Given the description of an element on the screen output the (x, y) to click on. 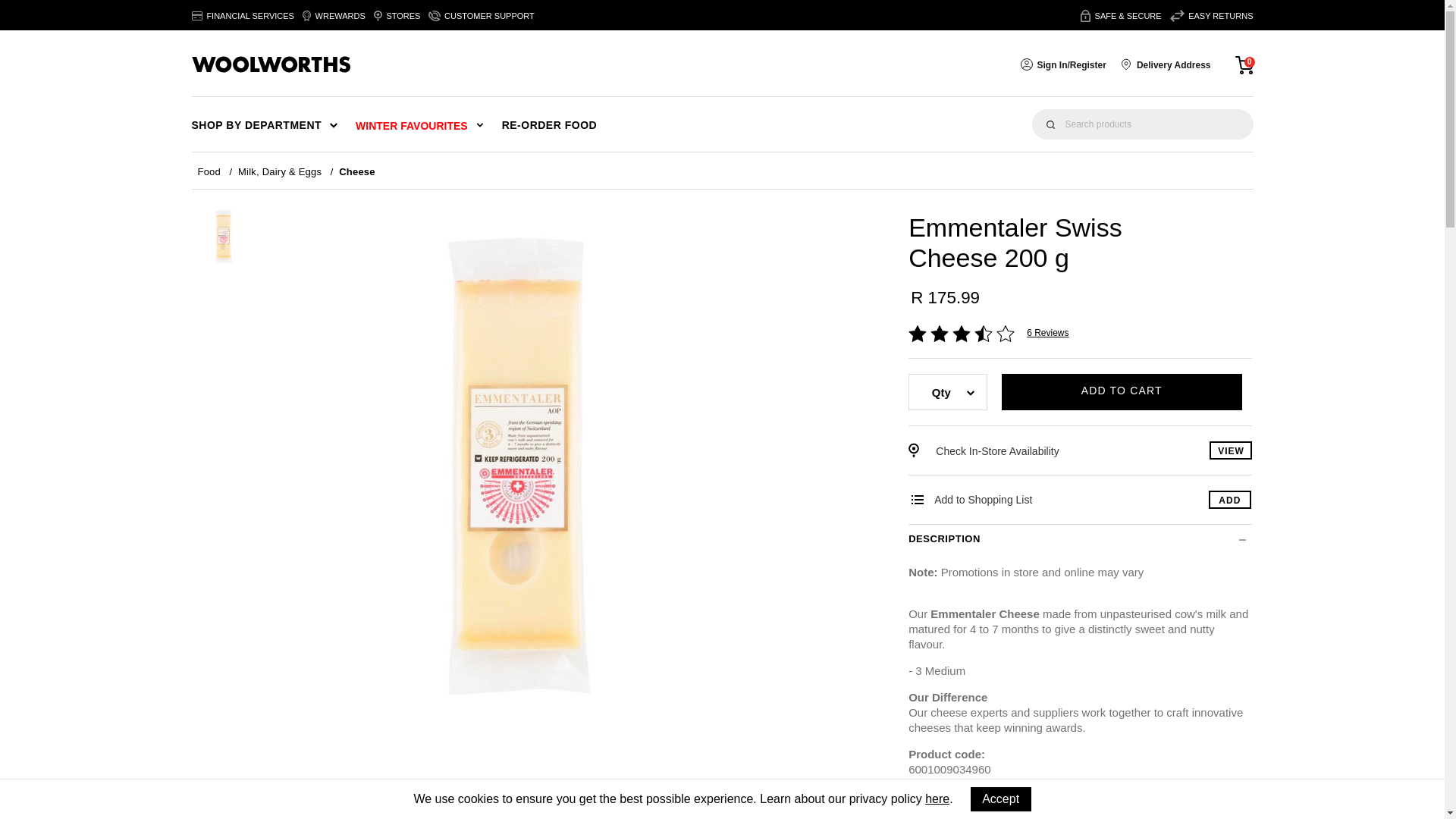
WINTER FAVOURITES (419, 124)
EASY RETURNS (1211, 15)
RE-ORDER FOOD (549, 124)
FINANCIAL SERVICES (242, 15)
Food (217, 171)
Cheese (357, 171)
Easy Returns (1211, 15)
Customer Support (481, 15)
Stores (397, 15)
CUSTOMER SUPPORT (481, 15)
STORES (397, 15)
0 (1243, 64)
WREWARDS (333, 15)
SHOP BY DEPARTMENT (272, 124)
Cheese (357, 171)
